Given the description of an element on the screen output the (x, y) to click on. 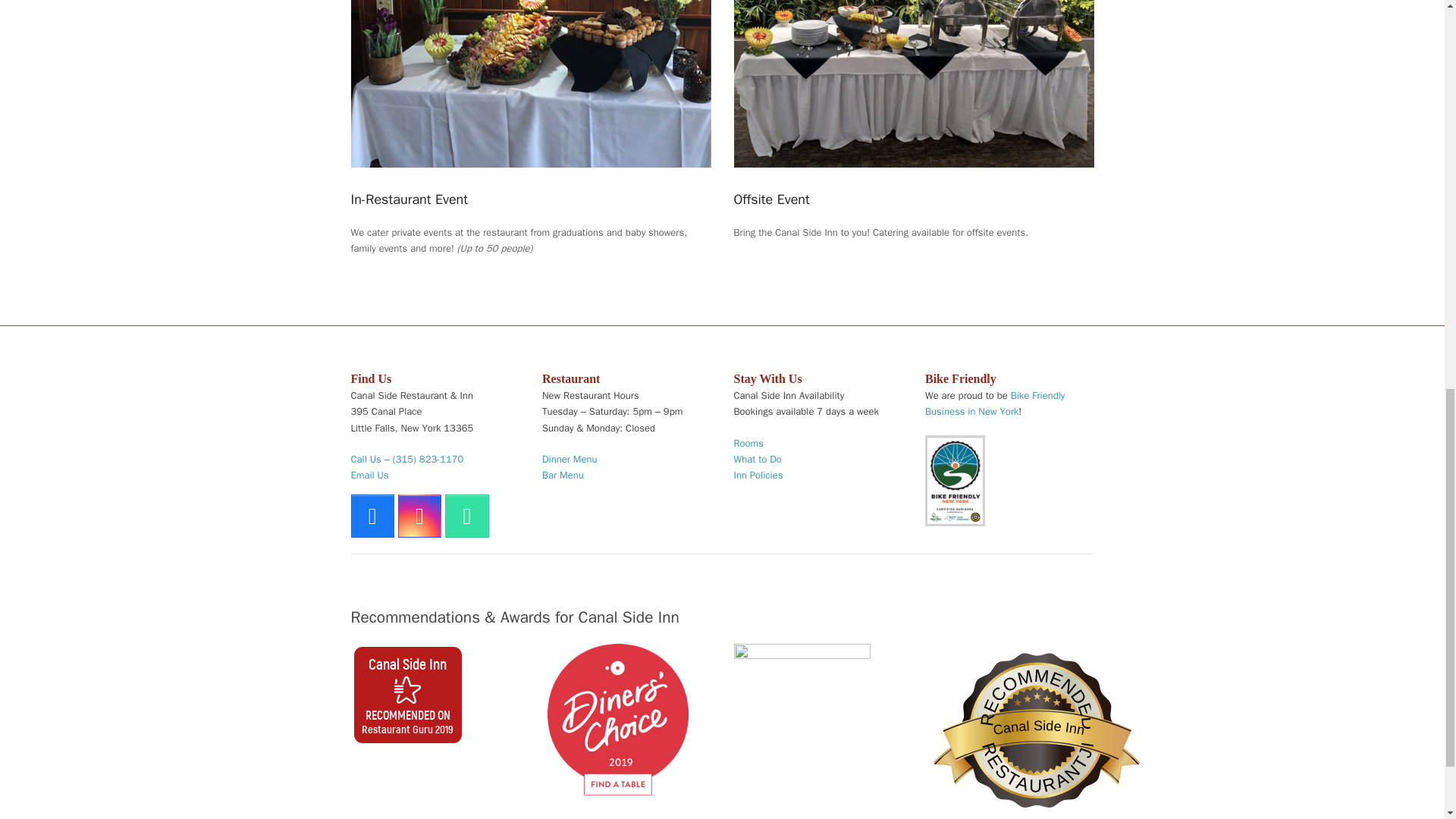
Facebook (371, 515)
offsite-event (913, 83)
Tripadvisor (466, 515)
bikefriendly-erie-canal-sm-4 (954, 480)
Instagram (419, 515)
Canal Side Inn (407, 663)
Dinner Menu (568, 459)
Facebook (371, 515)
RECOMMENDED (1029, 717)
What to Do (757, 459)
RESTAURANTJI (1031, 746)
Inn Policies (758, 474)
Instagram (419, 515)
Tripadvisor (466, 515)
Rooms (747, 442)
